Given the description of an element on the screen output the (x, y) to click on. 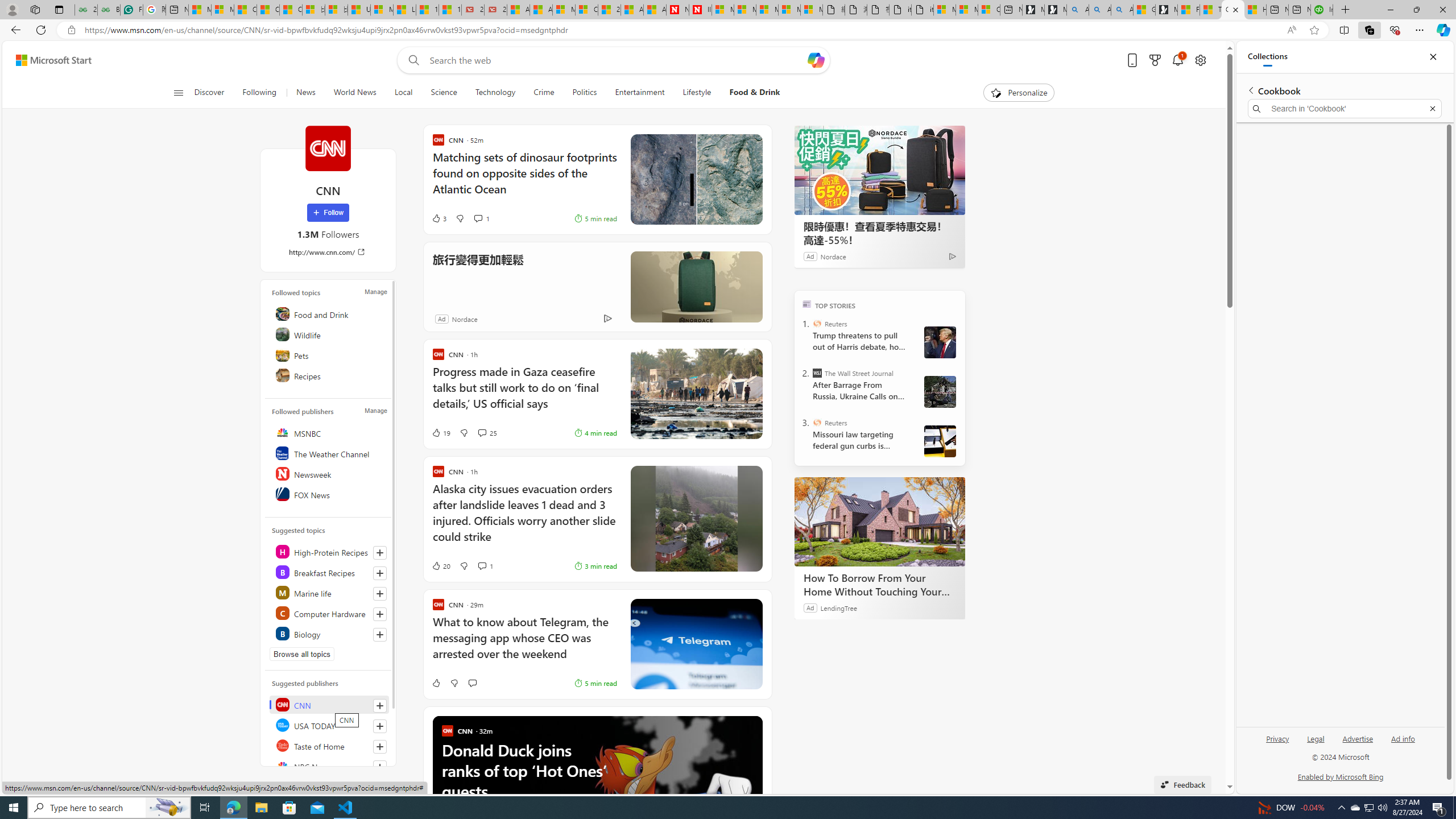
How To Borrow From Your Home Without Touching Your Mortgage (879, 521)
Technology (494, 92)
Microsoft rewards (1154, 60)
Politics (584, 92)
News (305, 92)
USA TODAY (328, 724)
Free AI Writing Assistance for Students | Grammarly (131, 9)
Notifications (1177, 60)
Pets (328, 354)
